Given the description of an element on the screen output the (x, y) to click on. 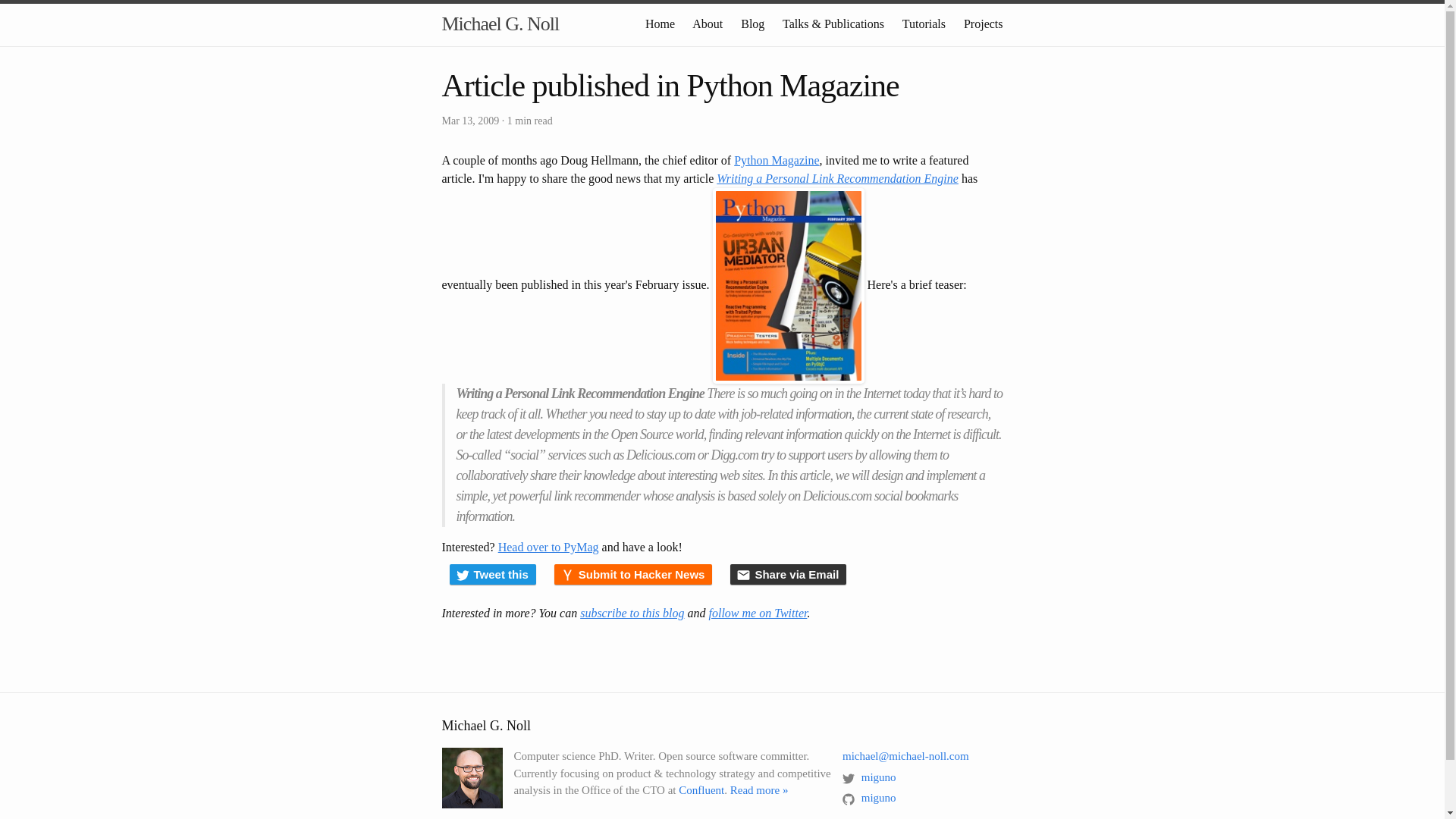
Tutorials (923, 23)
Writing a Personal Link Recommendation Engine (837, 178)
subscribe to this blog (631, 612)
follow me on Twitter (756, 612)
Confluent (700, 789)
Share via Email (787, 574)
Tweet this (491, 574)
Blog (752, 23)
miguno (869, 797)
Home (660, 23)
Submit to Hacker News (633, 574)
Projects (983, 23)
Python Magazine (775, 160)
About (707, 23)
Head over to PyMag (547, 546)
